Given the description of an element on the screen output the (x, y) to click on. 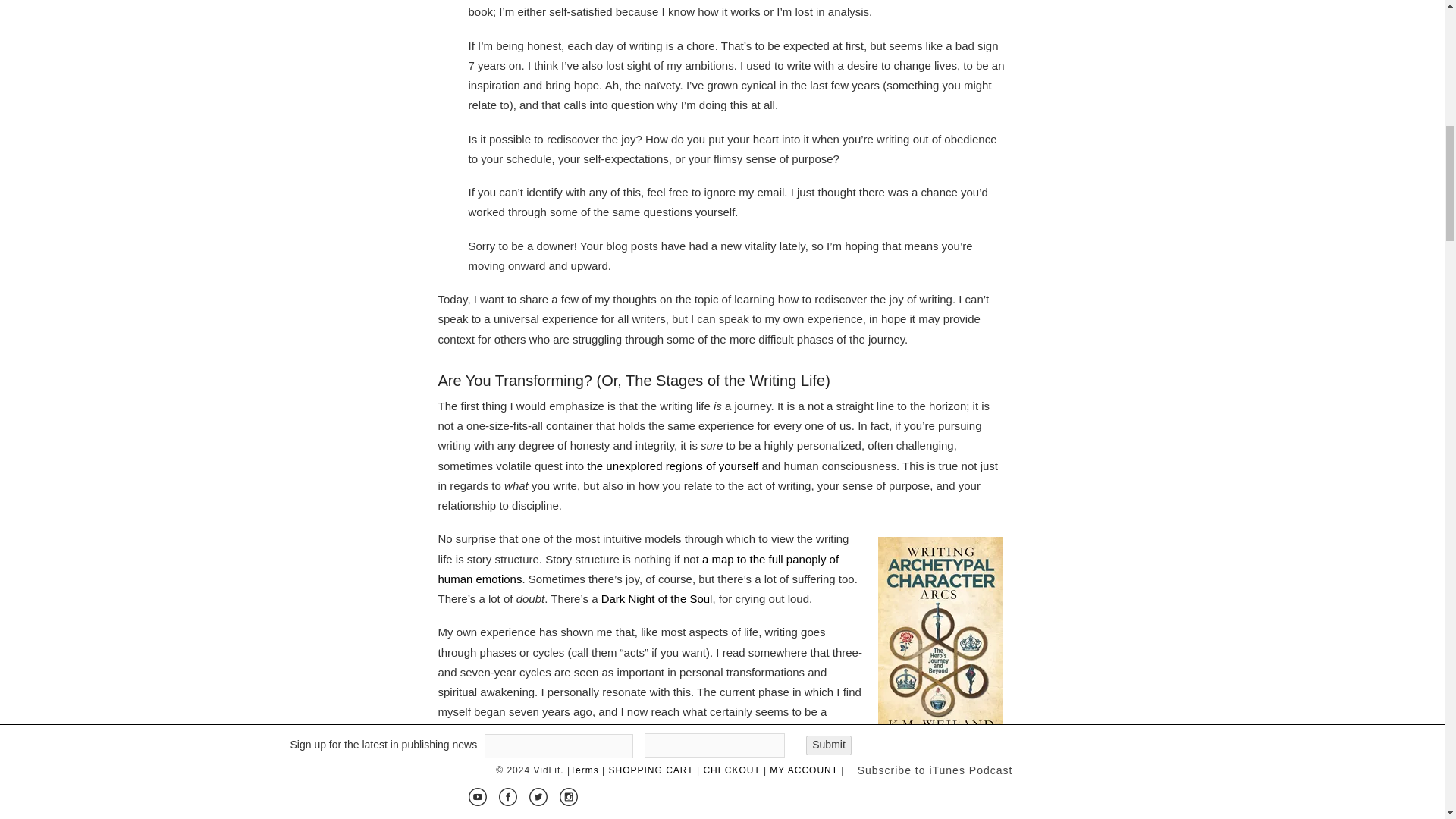
a map to the full panoply of human emotions (639, 568)
the unexplored regions of yourself (672, 465)
When Does Writing Get Easier? The 4 Steps to Mastery (649, 775)
Writing Archetypal Character Arcs (933, 769)
Dark Night of the Soul (657, 598)
